Given the description of an element on the screen output the (x, y) to click on. 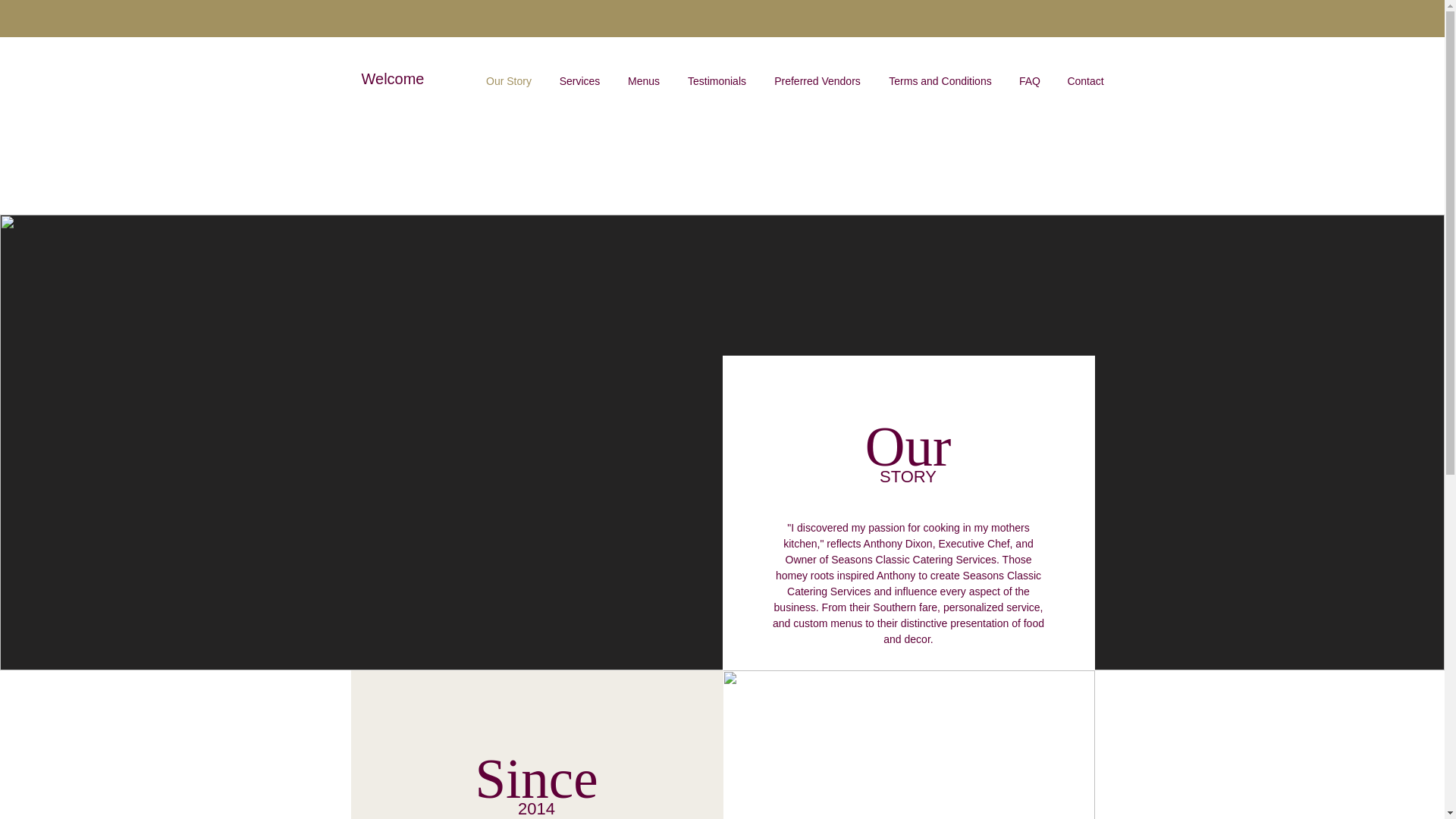
Our Story (507, 80)
Terms and Conditions (940, 80)
FAQ (1029, 80)
Preferred Vendors (817, 80)
Services (580, 80)
Contact (1086, 80)
Testimonials (716, 80)
Welcome  (394, 78)
Menus (644, 80)
